Given the description of an element on the screen output the (x, y) to click on. 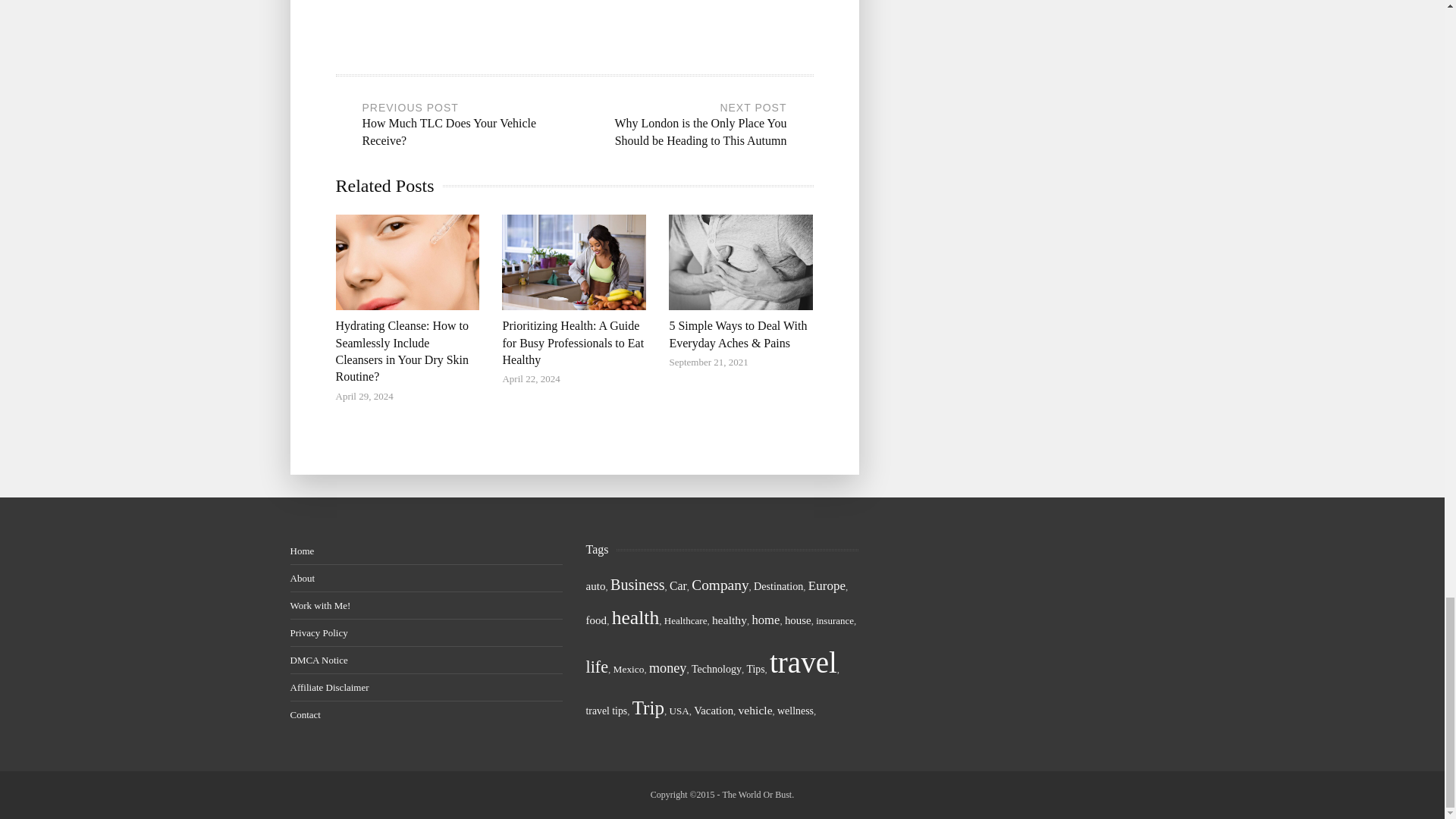
81 (728, 619)
82 (678, 585)
73 (797, 620)
97 (826, 585)
75 (596, 620)
93 (764, 619)
64 (778, 585)
125 (719, 584)
51 (685, 620)
55 (628, 668)
50 (834, 620)
135 (637, 584)
159 (596, 666)
74 (595, 585)
199 (635, 617)
